Given the description of an element on the screen output the (x, y) to click on. 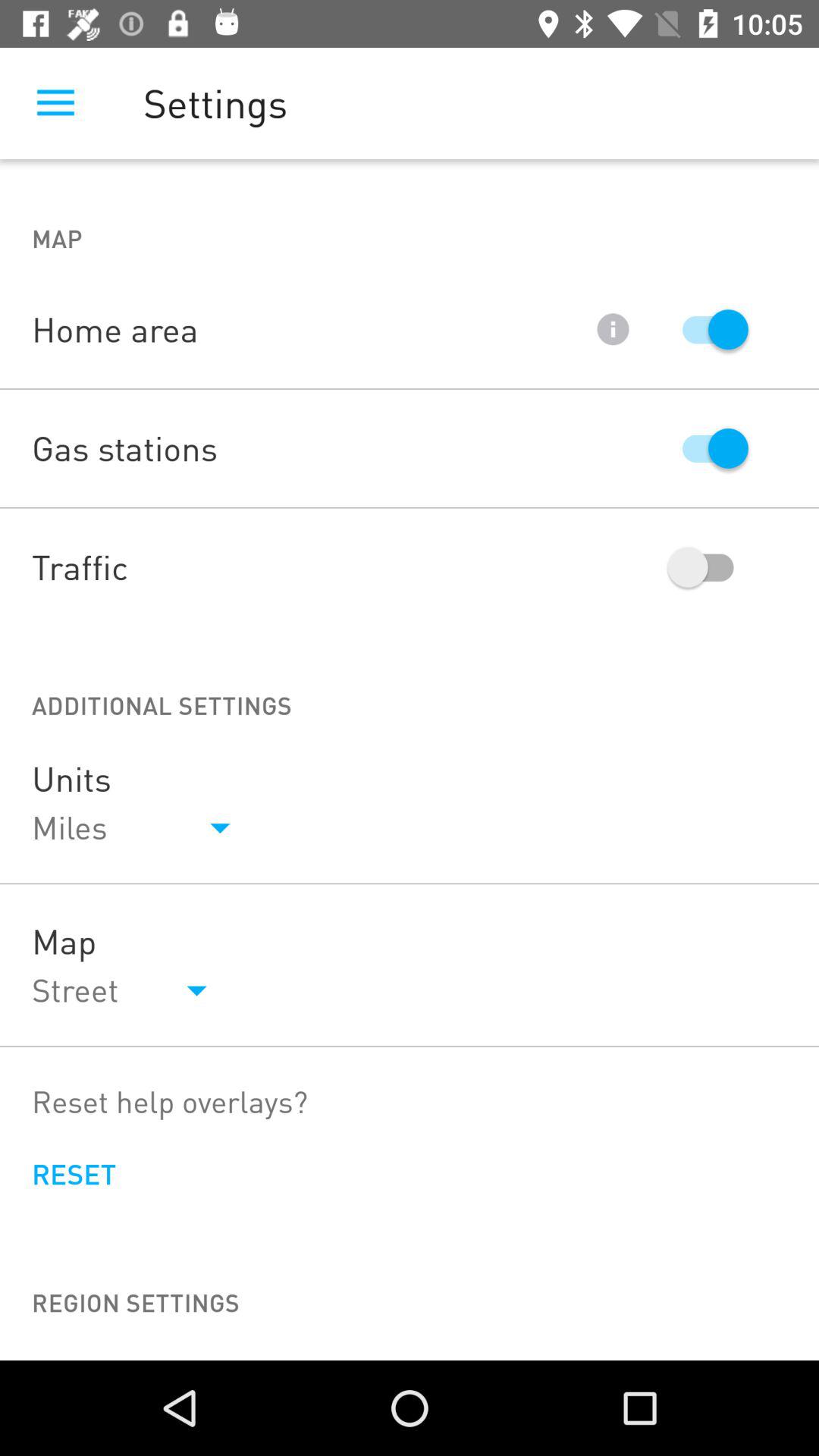
a toggle to turn a widget on or off (707, 329)
